Given the description of an element on the screen output the (x, y) to click on. 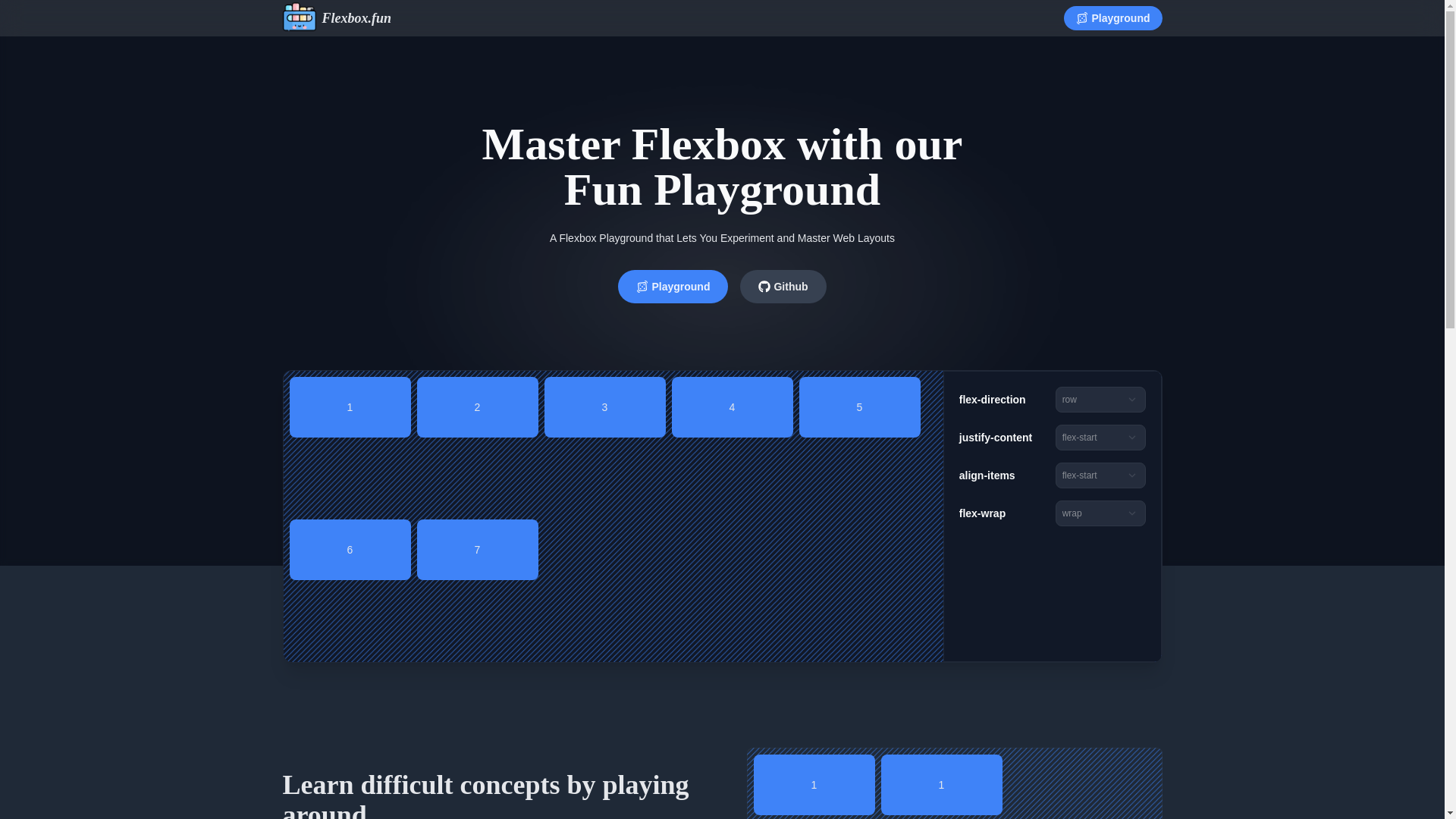
Playground (1112, 17)
Playground (672, 286)
Github (782, 286)
Flexbox.fun (336, 18)
